Given the description of an element on the screen output the (x, y) to click on. 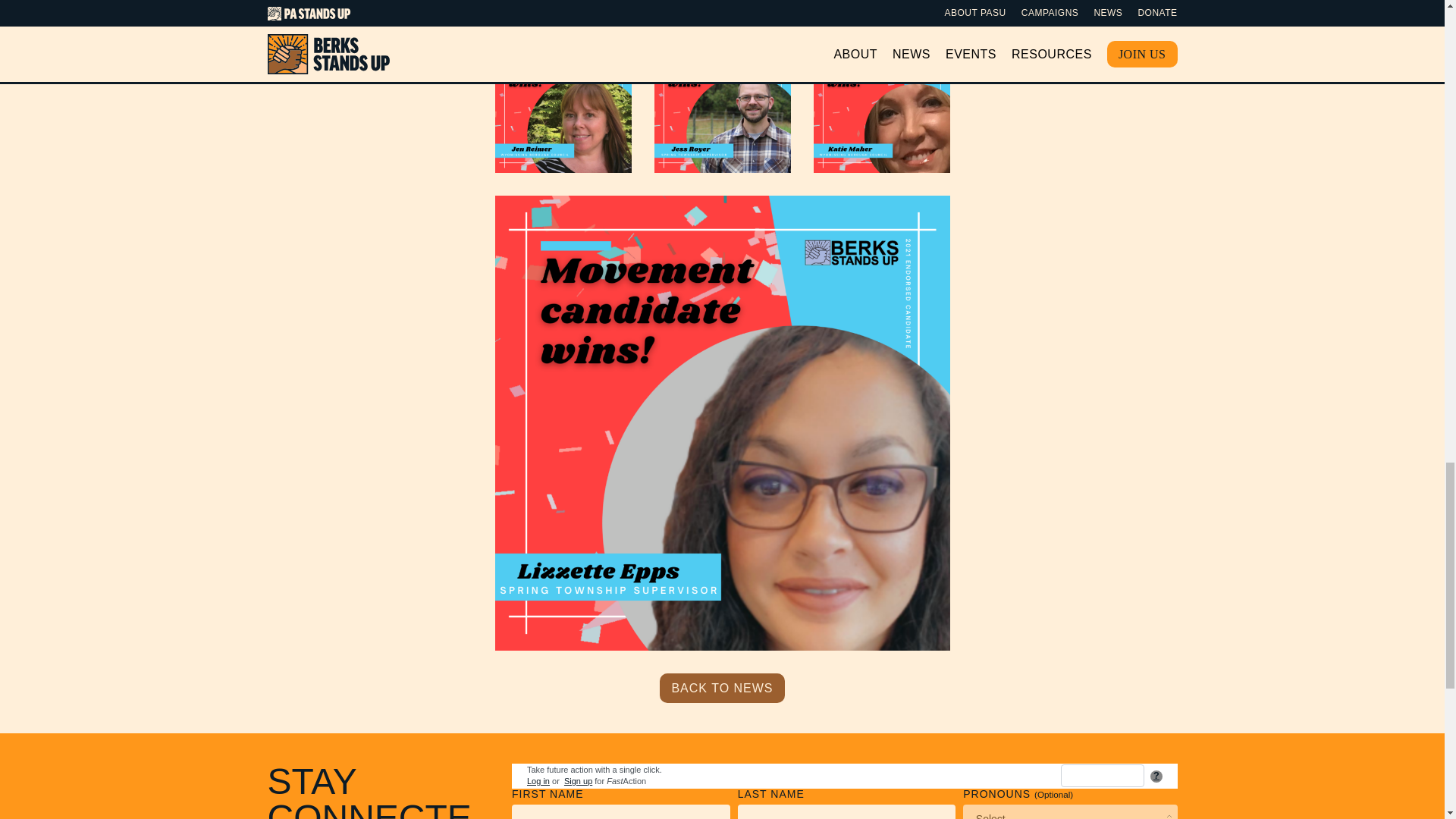
Log in (538, 780)
? (1155, 776)
Sign up (578, 780)
Pronouns (1069, 811)
BACK TO NEWS (721, 687)
